Given the description of an element on the screen output the (x, y) to click on. 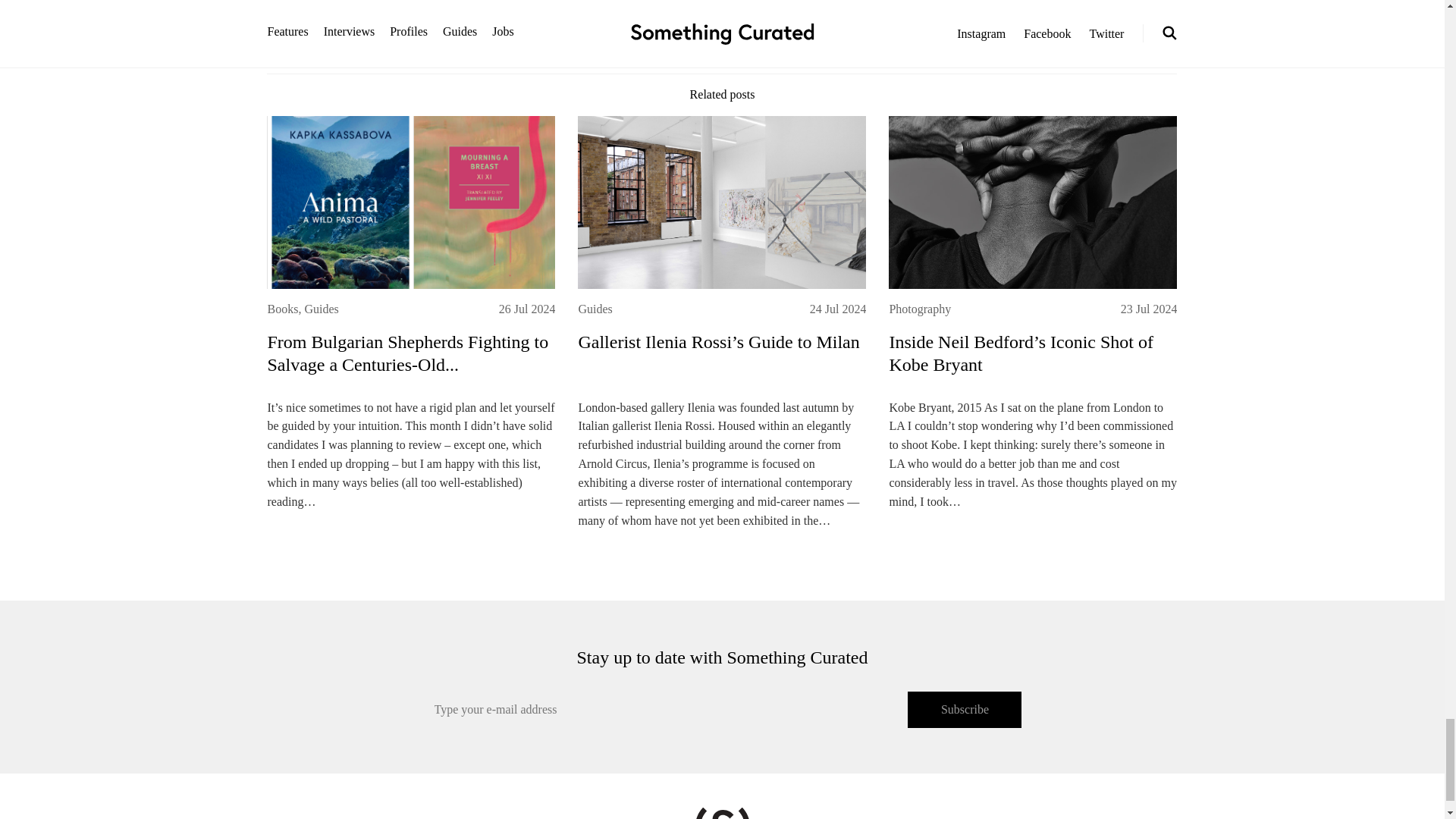
Subscribe (964, 709)
